Given the description of an element on the screen output the (x, y) to click on. 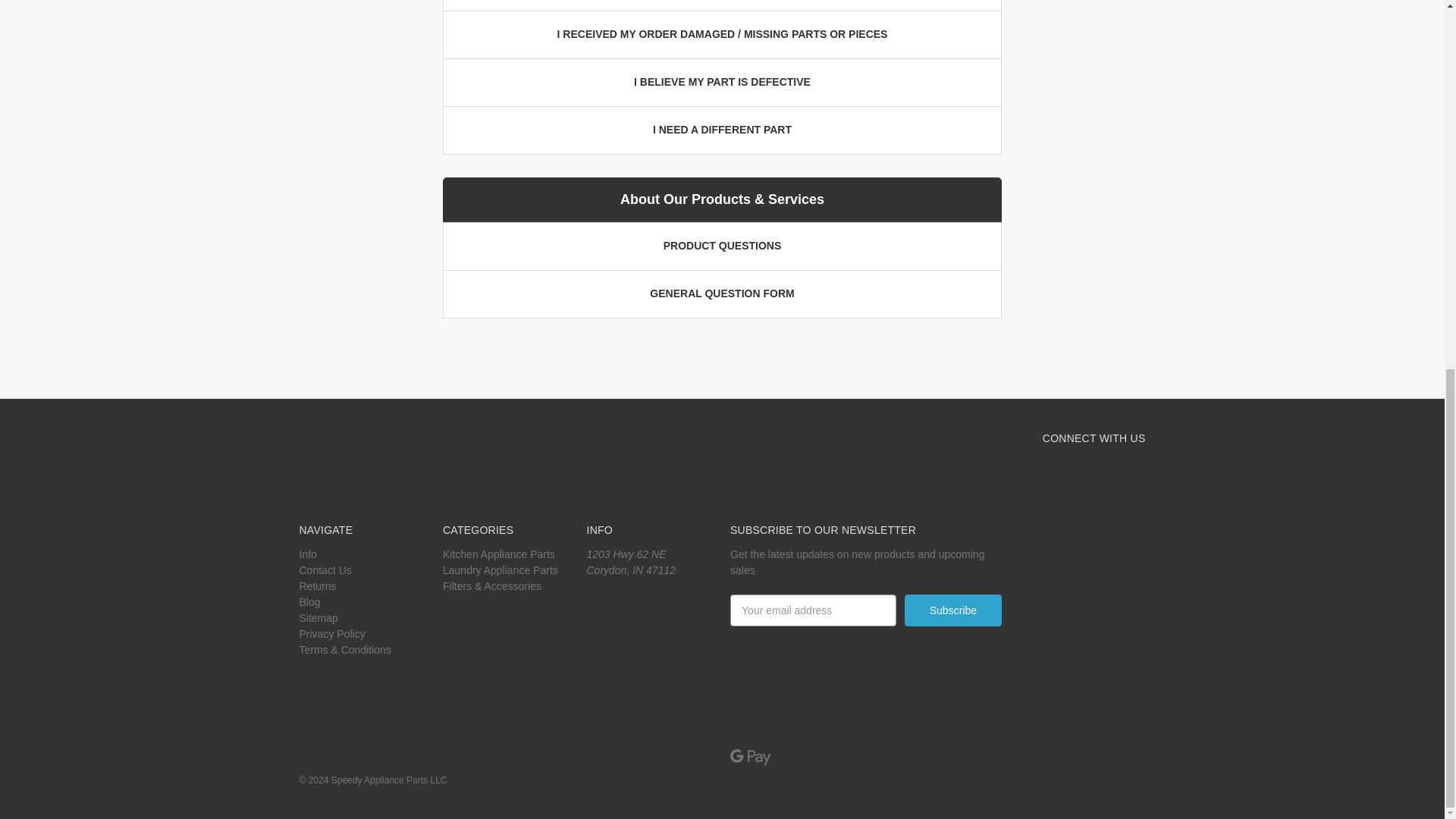
Facebook (1056, 471)
Pinterest (1110, 471)
Instagram (1137, 471)
Subscribe (952, 610)
X (1082, 471)
